Given the description of an element on the screen output the (x, y) to click on. 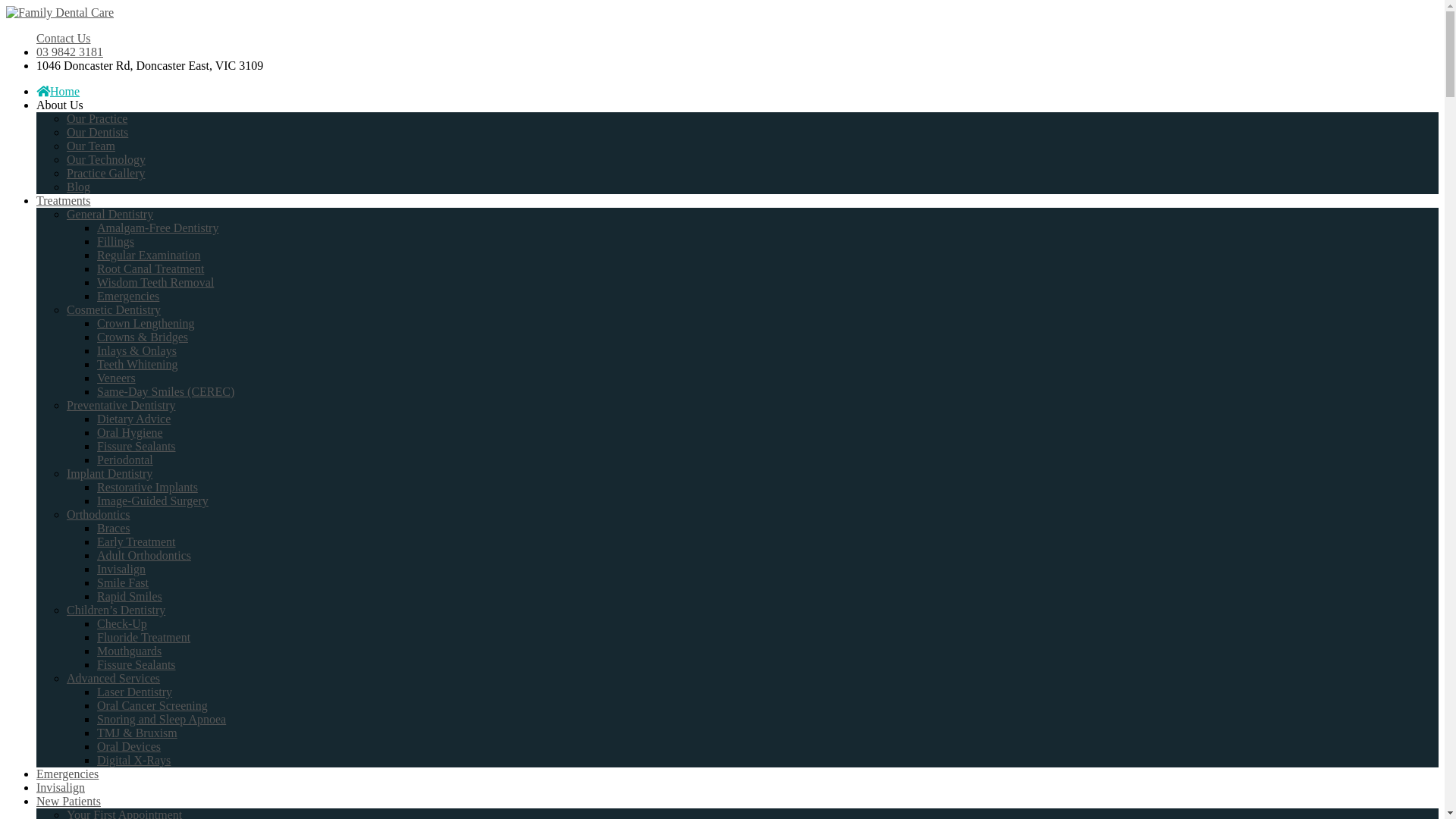
Our Dentists Element type: text (97, 131)
Our Practice Element type: text (96, 118)
Crown Lengthening Element type: text (145, 322)
Dietary Advice Element type: text (133, 418)
Fluoride Treatment Element type: text (143, 636)
Advanced Services Element type: text (113, 677)
Root Canal Treatment Element type: text (150, 268)
Crowns & Bridges Element type: text (142, 336)
Fillings Element type: text (115, 241)
Smile Fast Element type: text (122, 582)
Rapid Smiles Element type: text (129, 595)
Laser Dentistry Element type: text (134, 691)
Emergencies Element type: text (128, 295)
Adult Orthodontics Element type: text (144, 555)
Same-Day Smiles (CEREC) Element type: text (165, 391)
Oral Hygiene Element type: text (130, 432)
Emergencies Element type: text (67, 773)
Implant Dentistry Element type: text (109, 473)
Preventative Dentistry Element type: text (120, 404)
Digital X-Rays Element type: text (133, 759)
Early Treatment Element type: text (136, 541)
Inlays & Onlays Element type: text (136, 350)
TMJ & Bruxism Element type: text (137, 732)
Restorative Implants Element type: text (147, 486)
Oral Devices Element type: text (128, 746)
Our Technology Element type: text (105, 159)
Practice Gallery Element type: text (105, 172)
Snoring and Sleep Apnoea Element type: text (161, 718)
Invisalign Element type: text (60, 787)
Regular Examination Element type: text (148, 254)
Contact Us Element type: text (63, 37)
Cosmetic Dentistry Element type: text (113, 309)
Fissure Sealants Element type: text (136, 664)
03 9842 3181 Element type: text (69, 51)
Our Team Element type: text (90, 145)
Orthodontics Element type: text (98, 514)
Image-Guided Surgery Element type: text (152, 500)
Home Element type: text (57, 90)
Check-Up Element type: text (122, 623)
Mouthguards Element type: text (129, 650)
Teeth Whitening Element type: text (137, 363)
Fissure Sealants Element type: text (136, 445)
Blog Element type: text (78, 186)
Invisalign Element type: text (121, 568)
New Patients Element type: text (68, 800)
Braces Element type: text (113, 527)
Family Dental Care Element type: hover (59, 12)
Wisdom Teeth Removal Element type: text (155, 282)
Treatments Element type: text (63, 200)
General Dentistry Element type: text (109, 213)
Oral Cancer Screening Element type: text (152, 705)
Amalgam-Free Dentistry Element type: text (157, 227)
Veneers Element type: text (116, 377)
Periodontal Element type: text (125, 459)
